Given the description of an element on the screen output the (x, y) to click on. 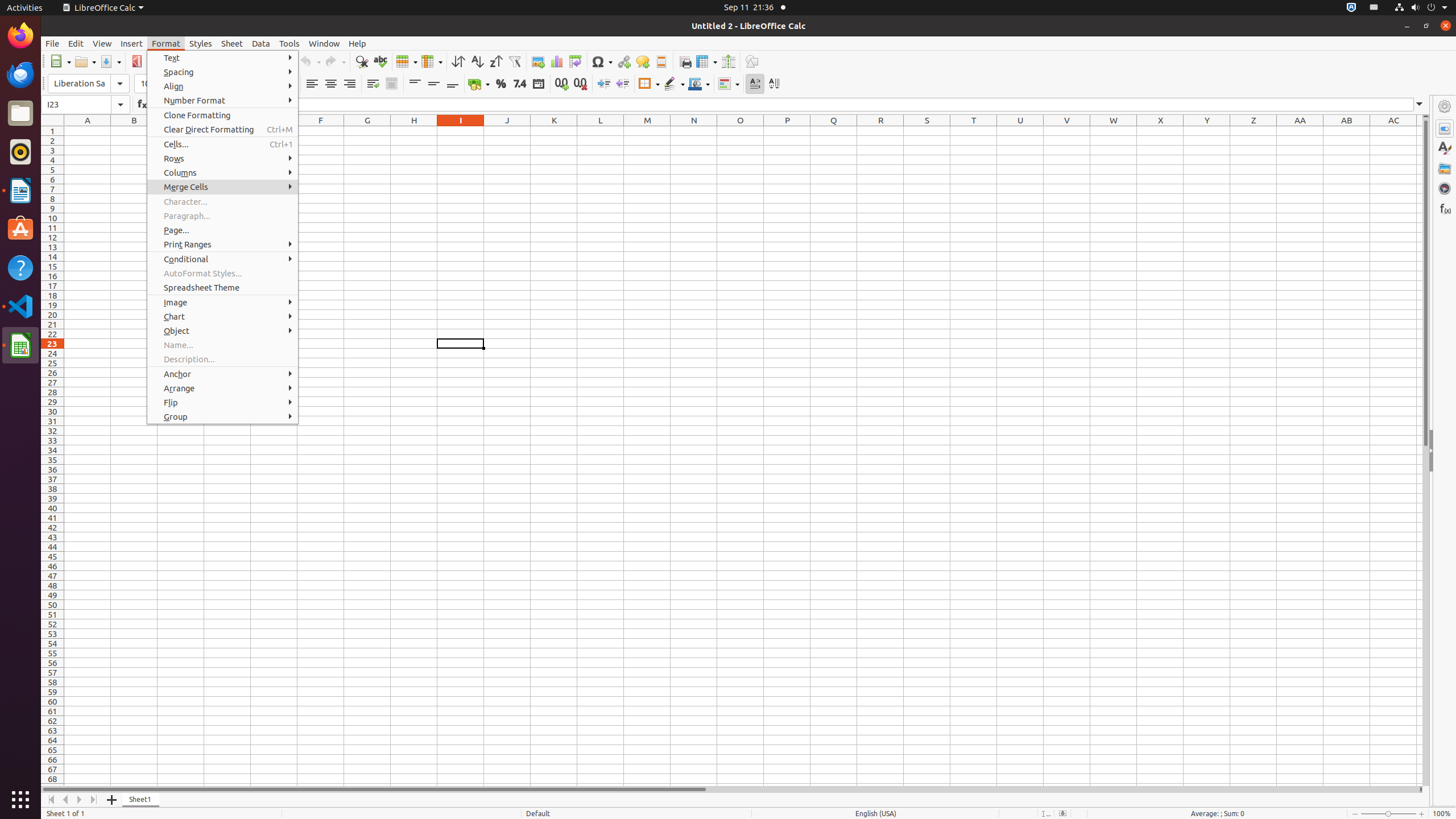
Merge and Center Cells Element type: menu-item (357, 186)
Name Box Element type: combo-box (85, 104)
Border Style Element type: push-button (673, 83)
Z1 Element type: table-cell (1253, 130)
Trash Element type: label (75, 108)
